Given the description of an element on the screen output the (x, y) to click on. 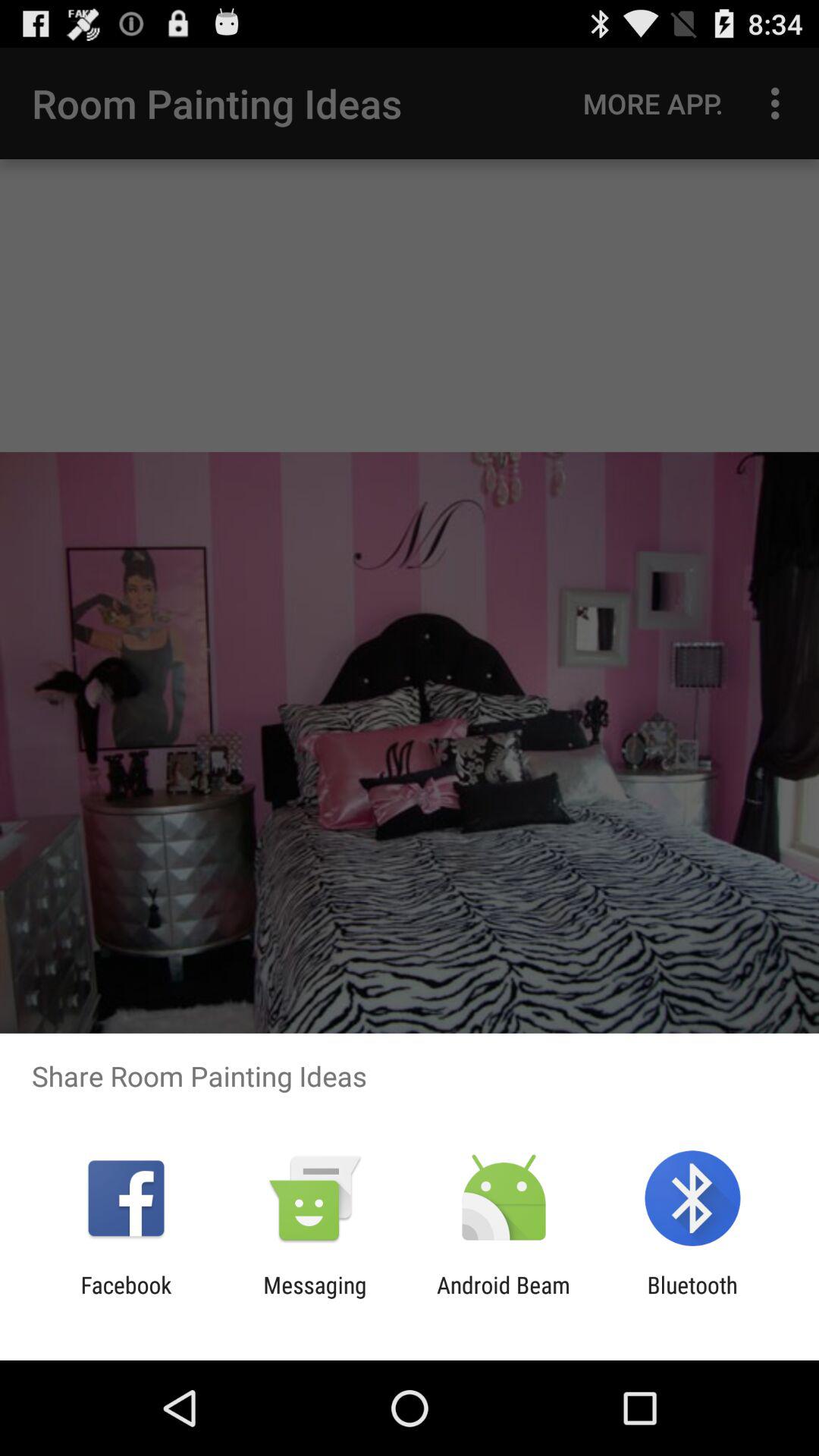
tap the app to the left of the messaging item (125, 1298)
